Given the description of an element on the screen output the (x, y) to click on. 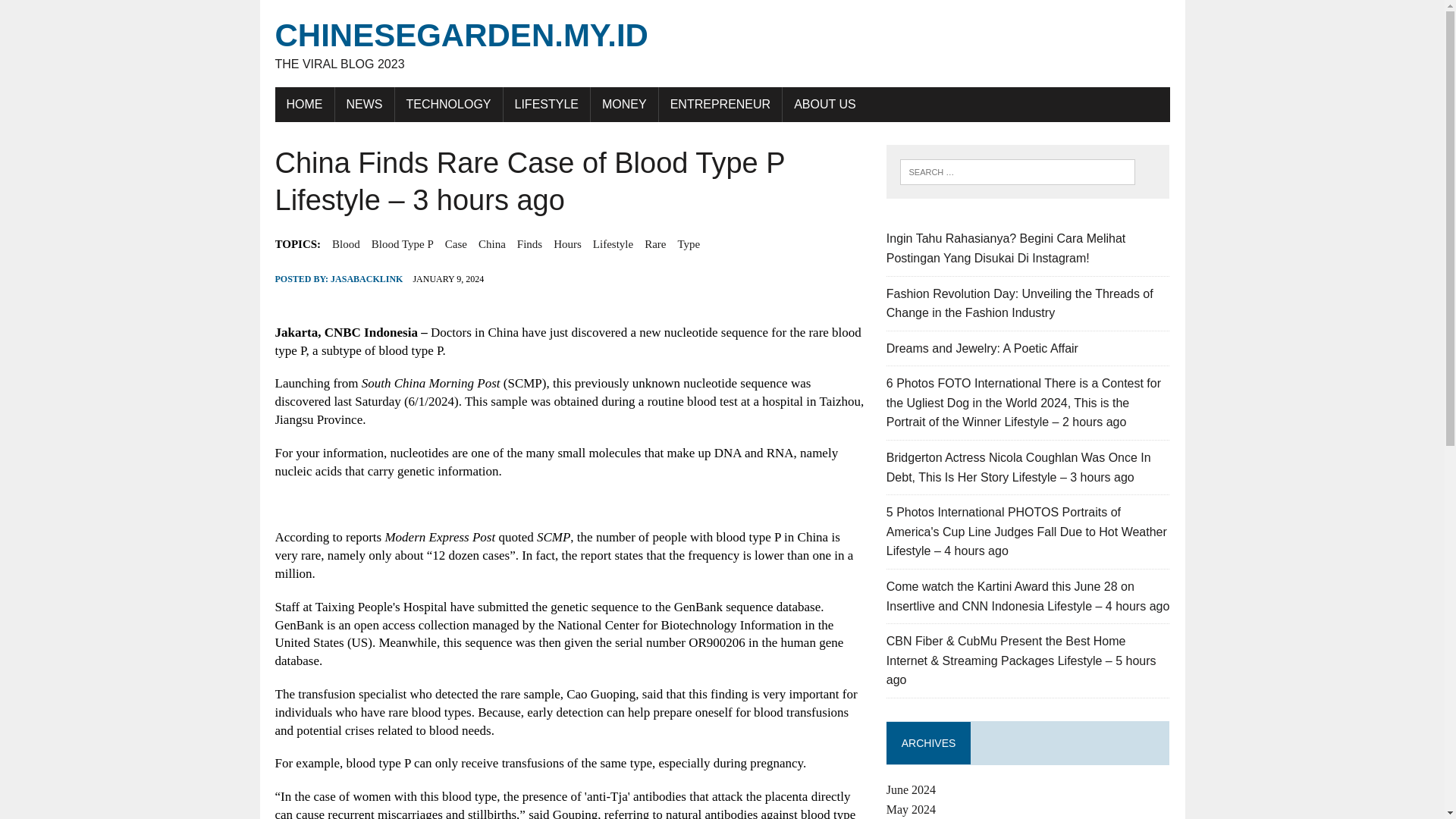
Hours (566, 244)
TECHNOLOGY (448, 104)
MONEY (624, 104)
JASABACKLINK (366, 278)
Case (456, 244)
chinesegarden.my.id (722, 43)
LIFESTYLE (546, 104)
Blood (722, 43)
ABOUT US (345, 244)
NEWS (825, 104)
Type (364, 104)
HOME (689, 244)
